Given the description of an element on the screen output the (x, y) to click on. 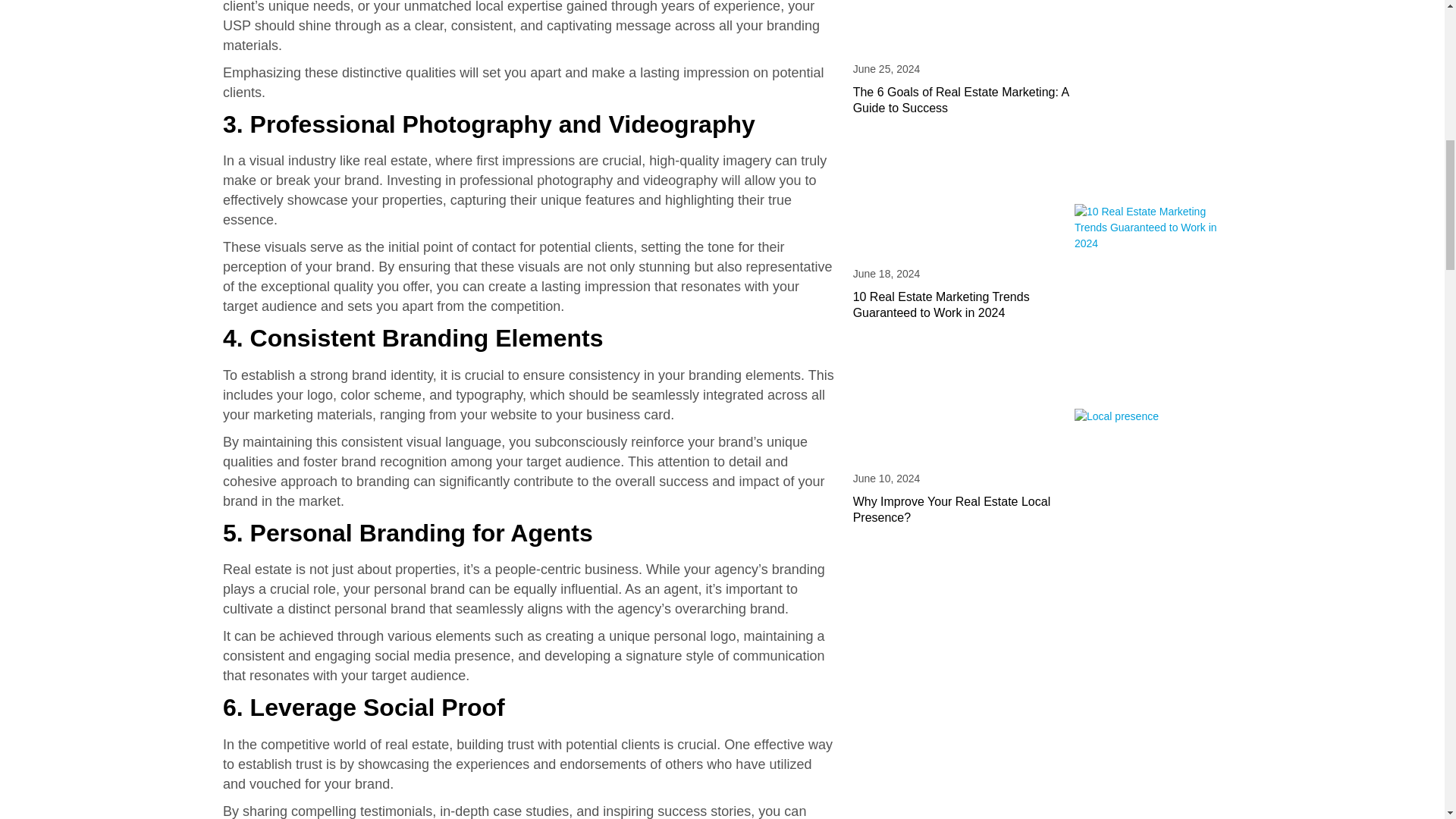
The 6 Goals of Real Estate Marketing: A Guide to Success (960, 99)
10 Real Estate Marketing Trends Guaranteed to Work in 2024 (941, 304)
Why Improve Your Real Estate Local Presence? (952, 509)
